Given the description of an element on the screen output the (x, y) to click on. 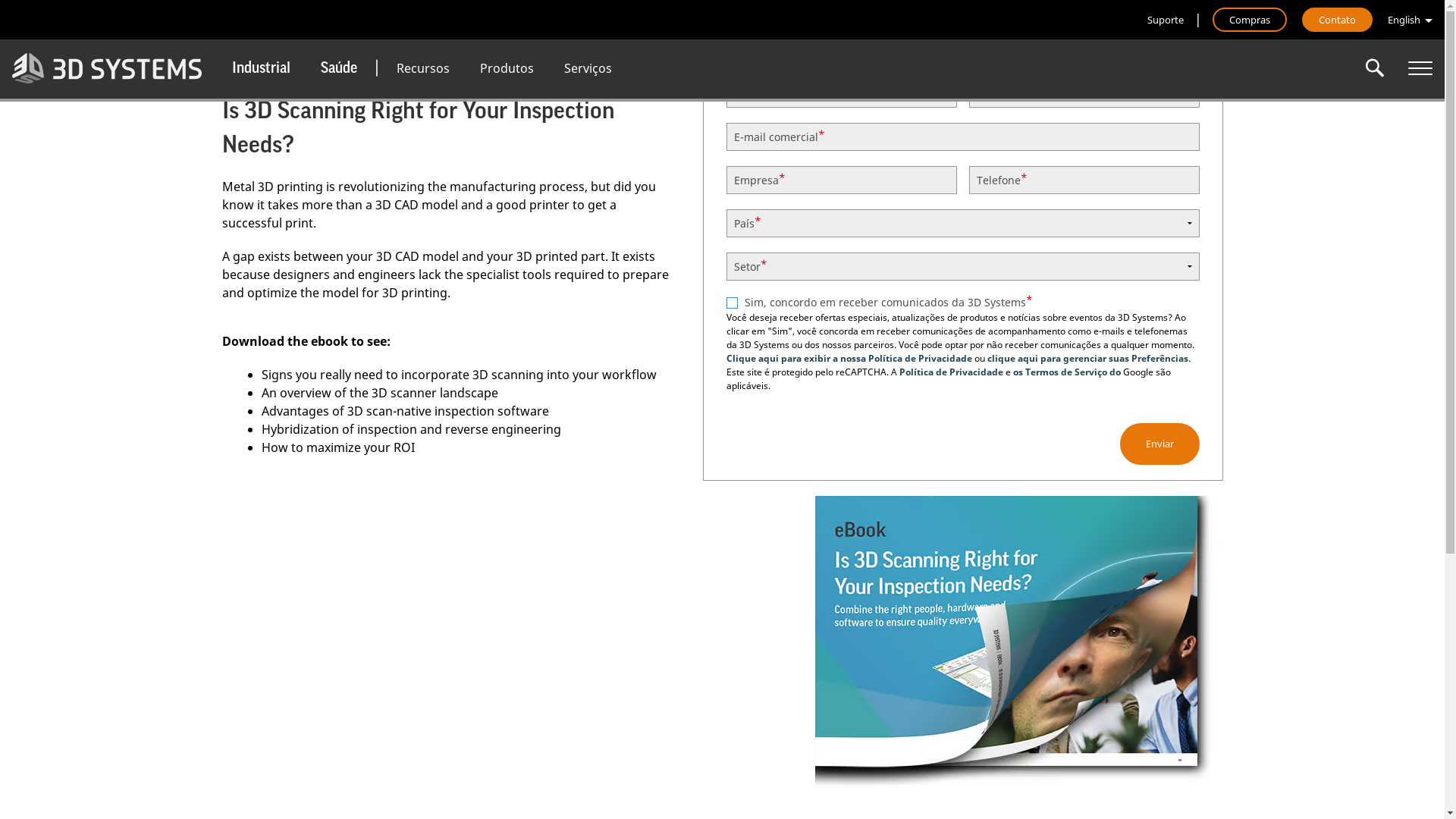
English Element type: text (1409, 20)
Enviar Element type: text (1158, 443)
Suporte Element type: text (1165, 19)
Compras Element type: text (1249, 19)
Produtos Element type: text (506, 67)
Contato Element type: text (1337, 19)
Industrial Element type: text (260, 67)
Todas 3D Systems Element type: text (1420, 68)
Search Element type: text (1374, 67)
Recursos Element type: text (422, 67)
Enter the terms you wish to search for. Element type: hover (1374, 67)
No Element type: text (732, 302)
